Given the description of an element on the screen output the (x, y) to click on. 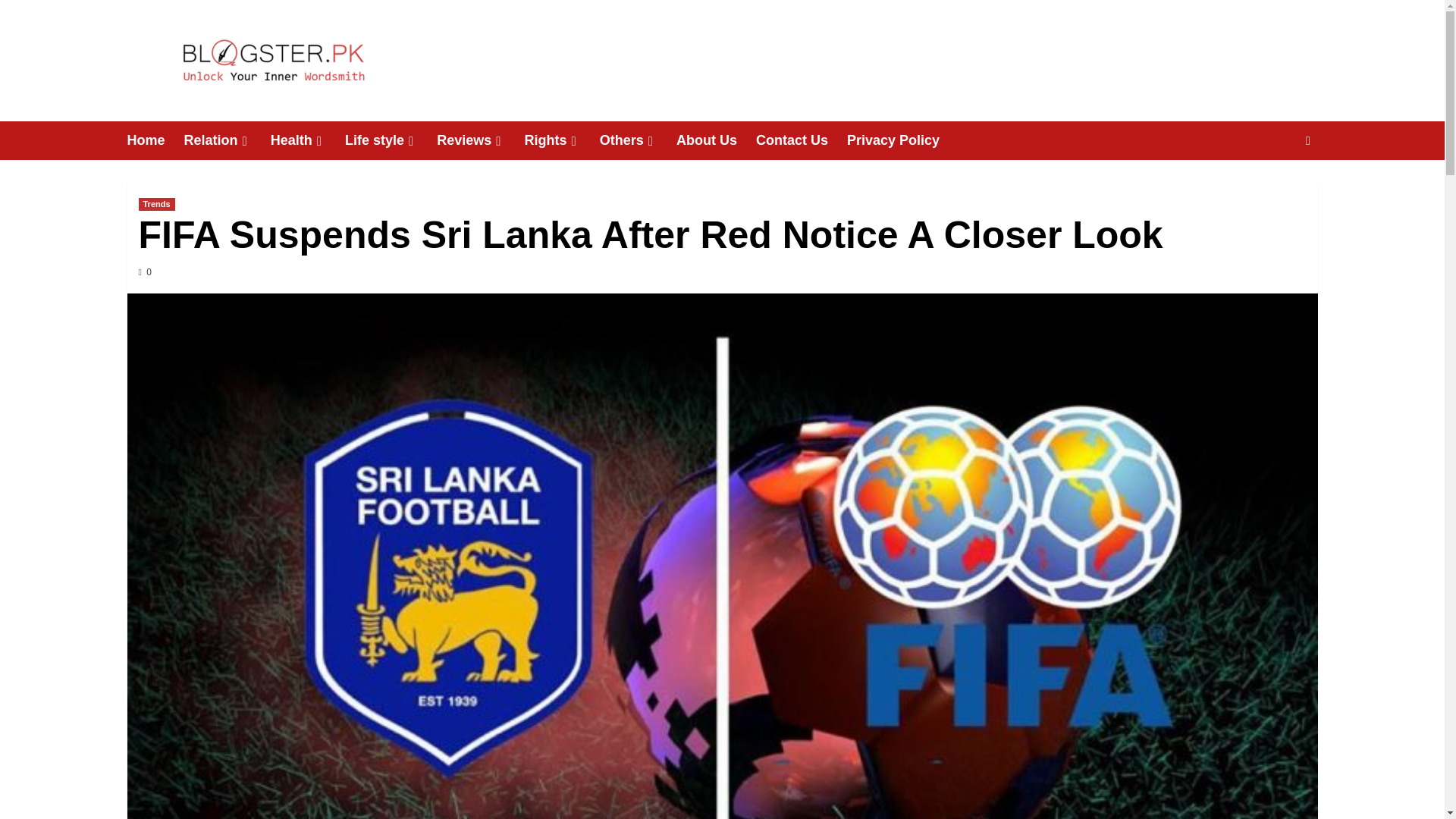
Home (156, 140)
Reviews (480, 140)
About Us (716, 140)
Life style (390, 140)
Health (307, 140)
Contact Us (801, 140)
Rights (561, 140)
Others (638, 140)
Relation (227, 140)
